Given the description of an element on the screen output the (x, y) to click on. 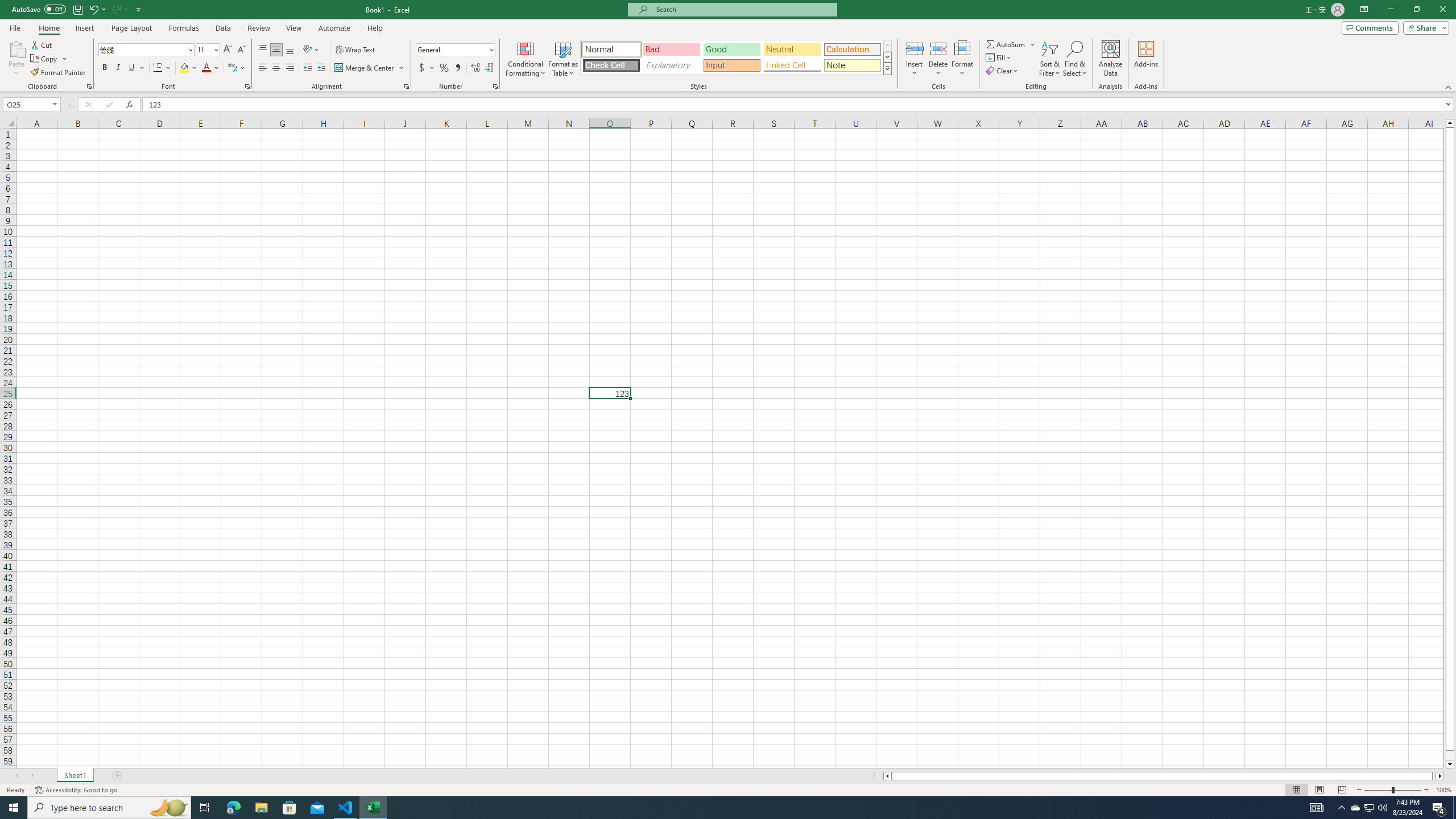
Underline (131, 67)
Decrease Decimal (489, 67)
Sort & Filter (1049, 58)
Delete (938, 58)
Good (731, 49)
Copy (45, 58)
Insert (83, 28)
Merge & Center (365, 67)
Zoom (1392, 790)
Help (374, 28)
Microsoft search (742, 9)
Insert Cells (914, 48)
Bottom Border (157, 67)
Minimize (1390, 9)
Note (852, 65)
